Given the description of an element on the screen output the (x, y) to click on. 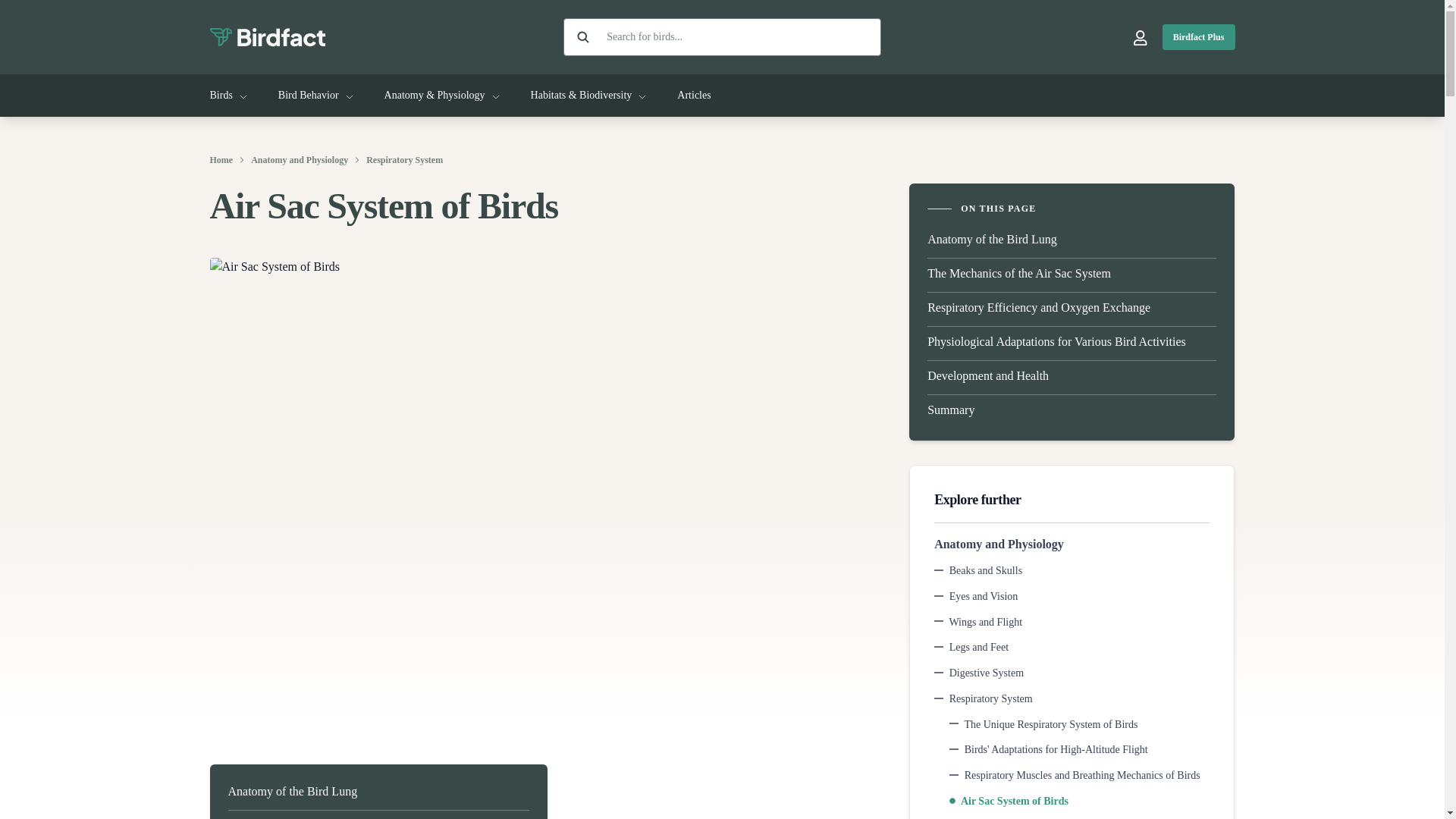
Birds (228, 95)
Articles (693, 95)
All Birds (228, 95)
Birdfact Plus (1197, 36)
Bird Behavior (315, 95)
Bird Behavior (315, 95)
